Given the description of an element on the screen output the (x, y) to click on. 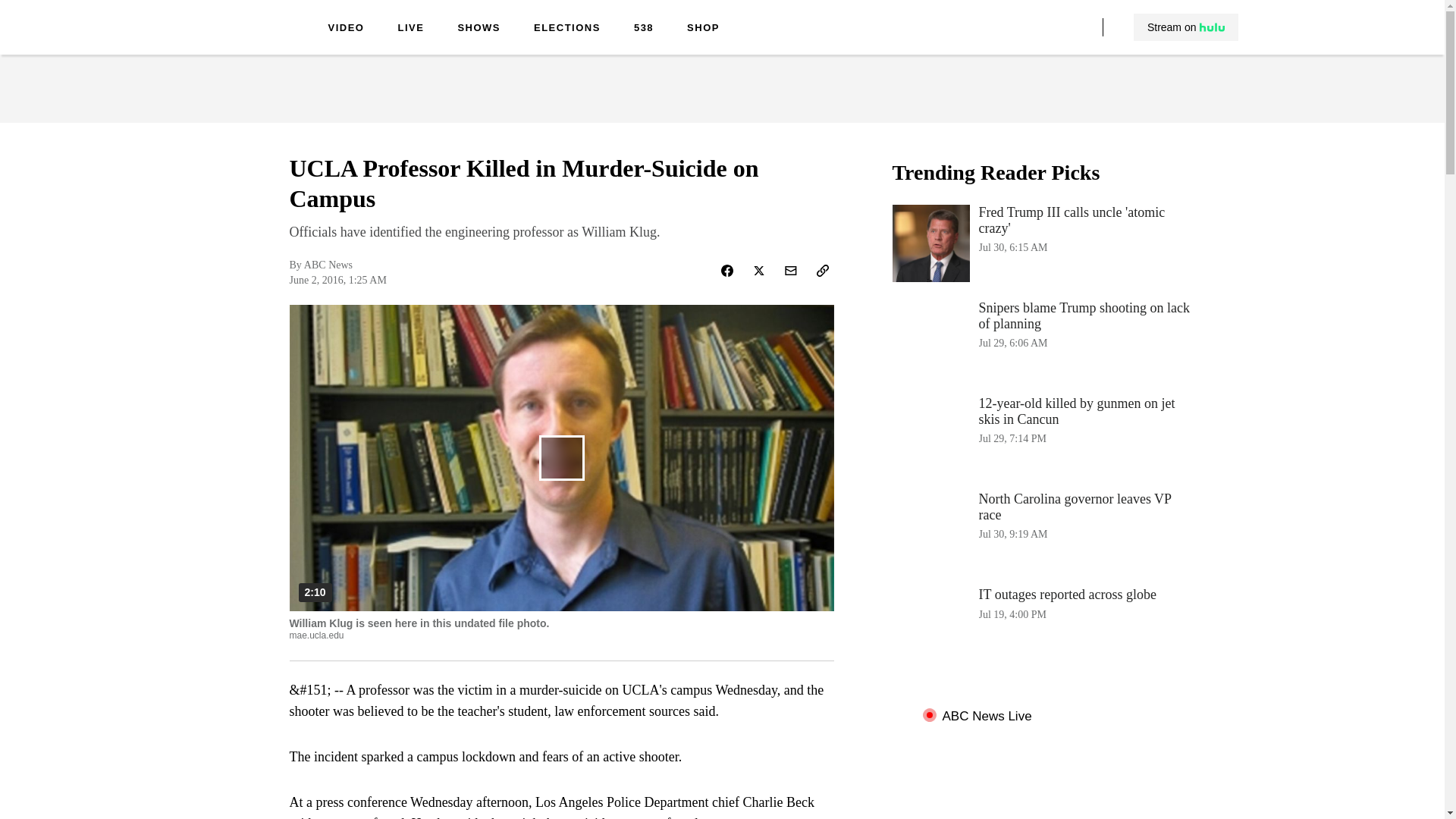
Stream on (1186, 26)
Stream on (1185, 27)
SHOP (703, 28)
ELECTIONS (566, 28)
LIVE (410, 28)
SHOWS (478, 28)
VIDEO (345, 28)
538 (643, 28)
ABC News (1043, 242)
